Given the description of an element on the screen output the (x, y) to click on. 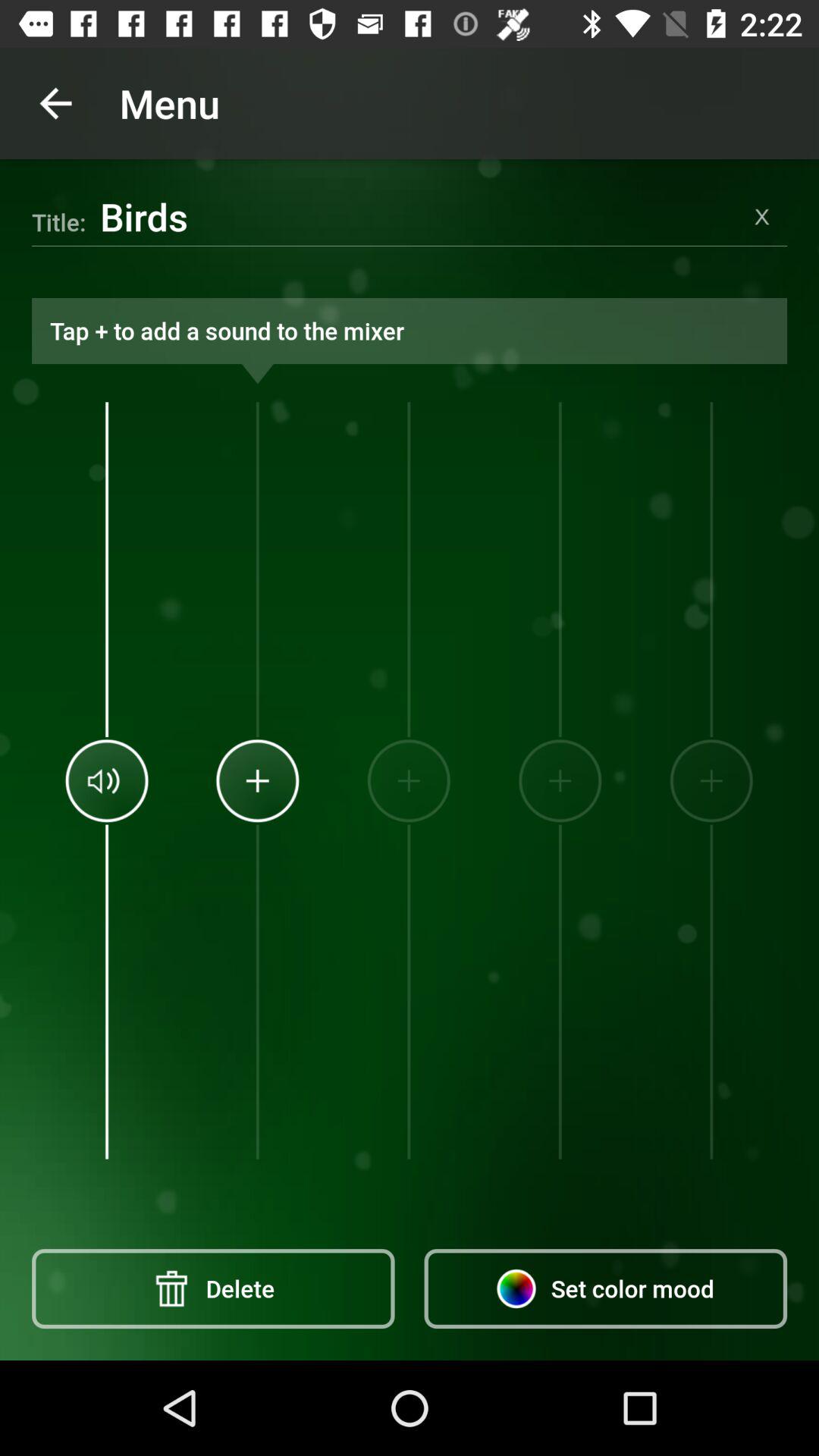
cancel title (762, 216)
